Given the description of an element on the screen output the (x, y) to click on. 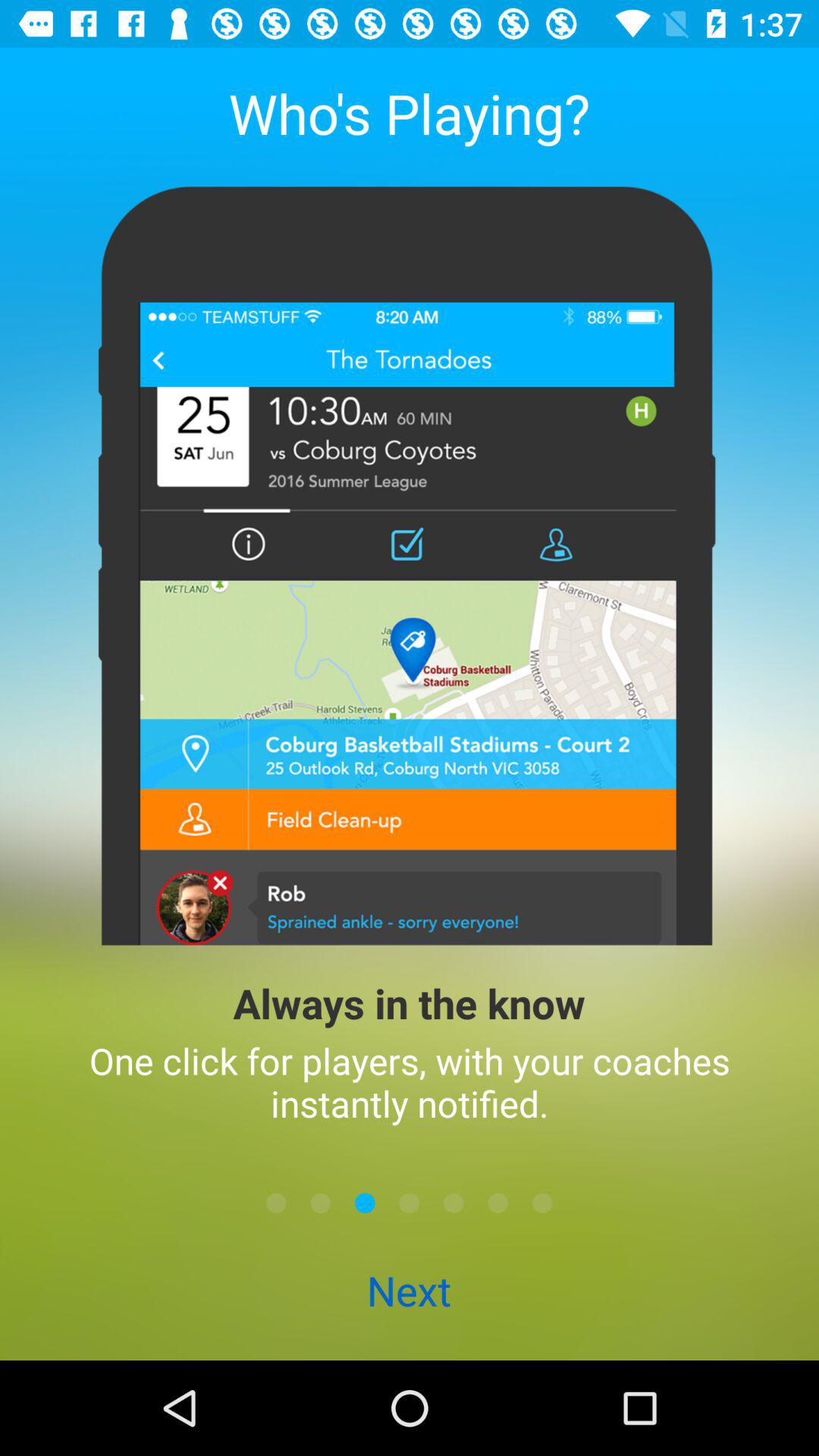
choose the item above the next icon (320, 1203)
